Given the description of an element on the screen output the (x, y) to click on. 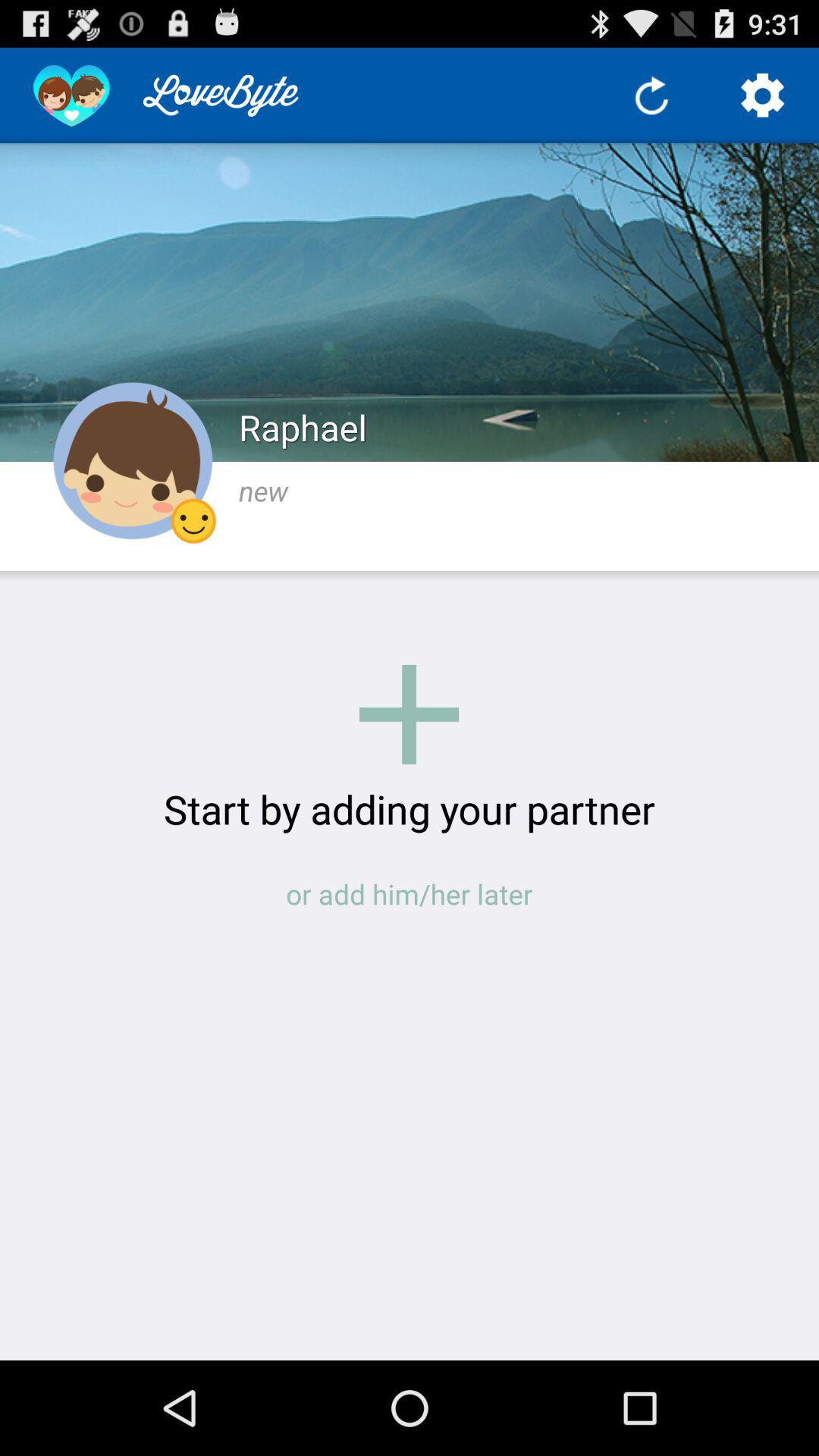
profile option (132, 460)
